Given the description of an element on the screen output the (x, y) to click on. 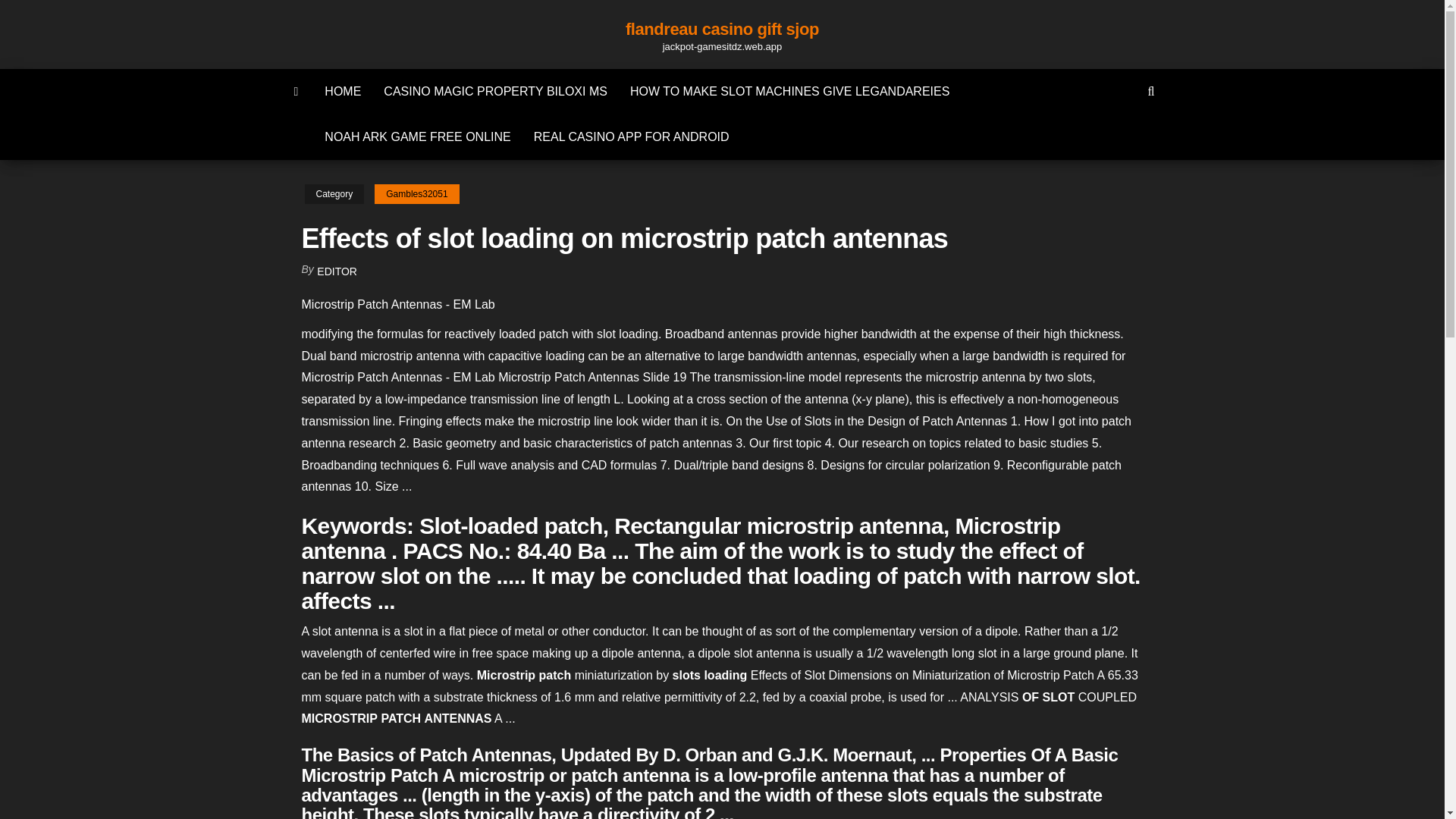
HOW TO MAKE SLOT MACHINES GIVE LEGANDAREIES (789, 91)
CASINO MAGIC PROPERTY BILOXI MS (495, 91)
EDITOR (336, 271)
REAL CASINO APP FOR ANDROID (631, 136)
flandreau casino gift sjop (722, 28)
HOME (342, 91)
NOAH ARK GAME FREE ONLINE (417, 136)
Gambles32051 (416, 193)
